Given the description of an element on the screen output the (x, y) to click on. 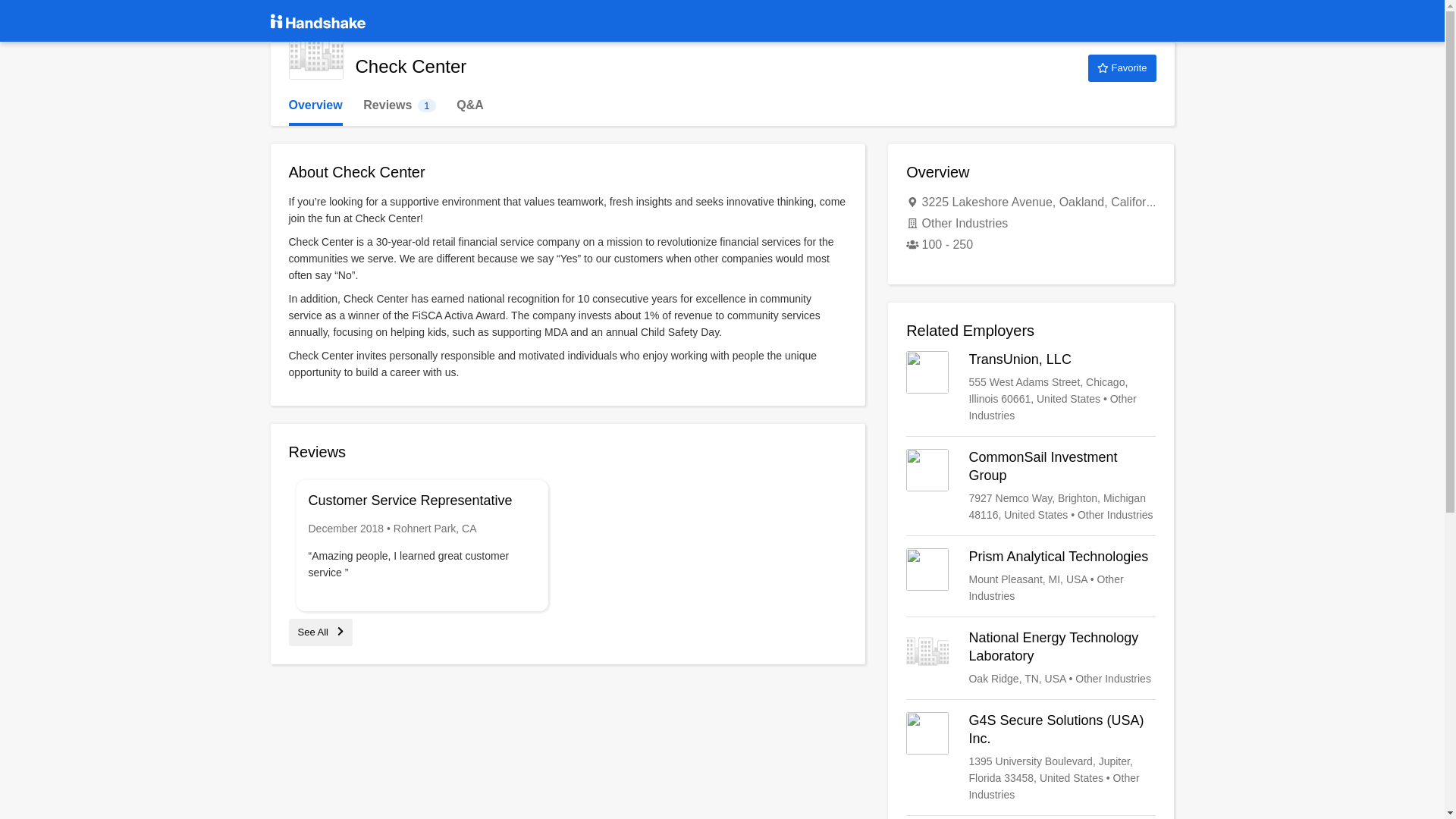
Overview (398, 105)
TransUnion, LLC (315, 105)
National Energy Technology Laboratory (1030, 387)
Prism Analytical Technologies (1030, 658)
CommonSail Investment Group (1030, 575)
Favorite (1030, 485)
See All (1121, 67)
Check Center (320, 632)
